Given the description of an element on the screen output the (x, y) to click on. 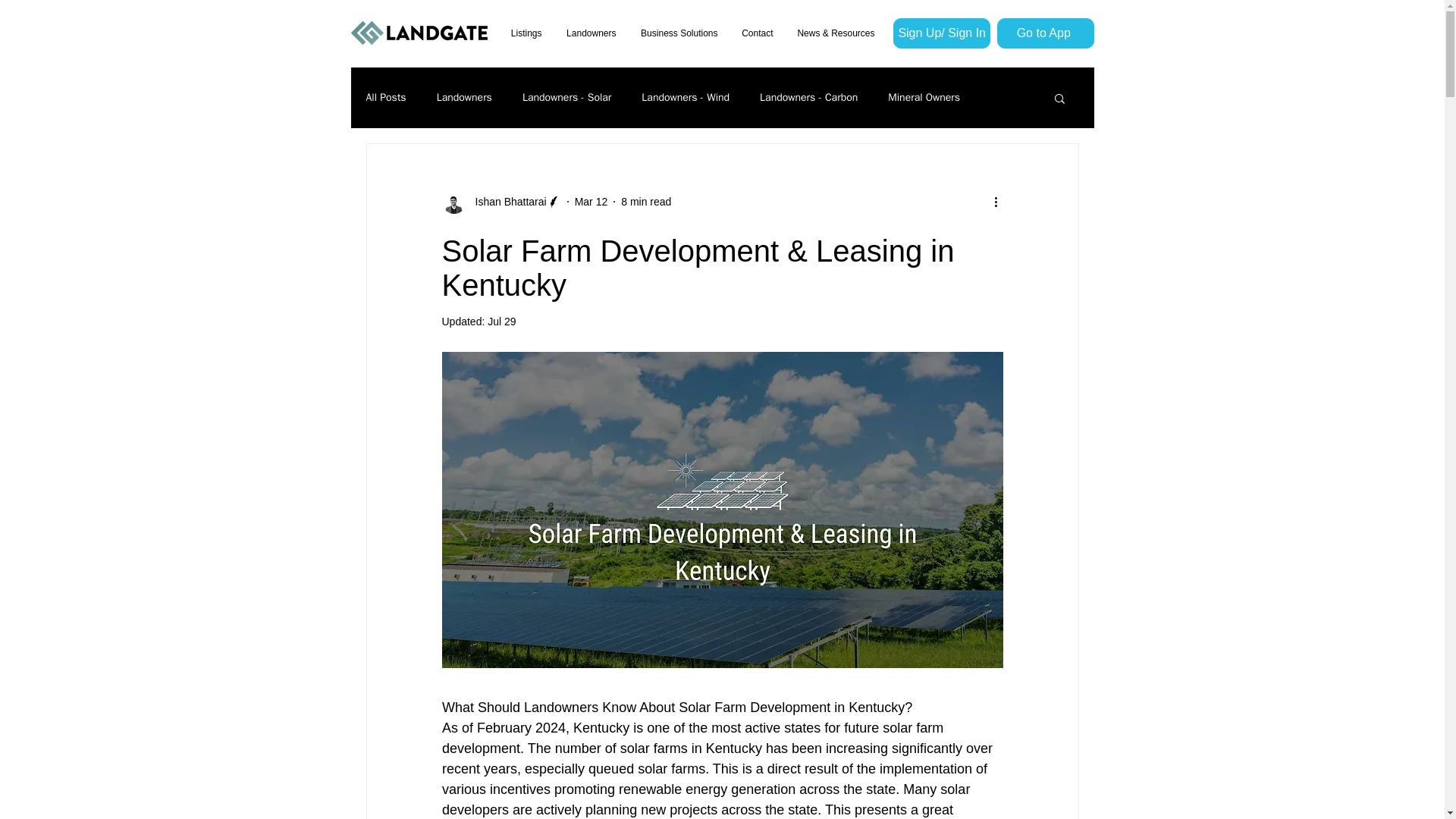
Landowners - Carbon (808, 97)
Landowners - Wind (685, 97)
Go to App (1044, 33)
Jul 29 (501, 321)
Mar 12 (591, 201)
All Posts (385, 97)
Ishan Bhattarai (505, 201)
Contact (756, 33)
Landowners (590, 33)
8 min read (646, 201)
